Given the description of an element on the screen output the (x, y) to click on. 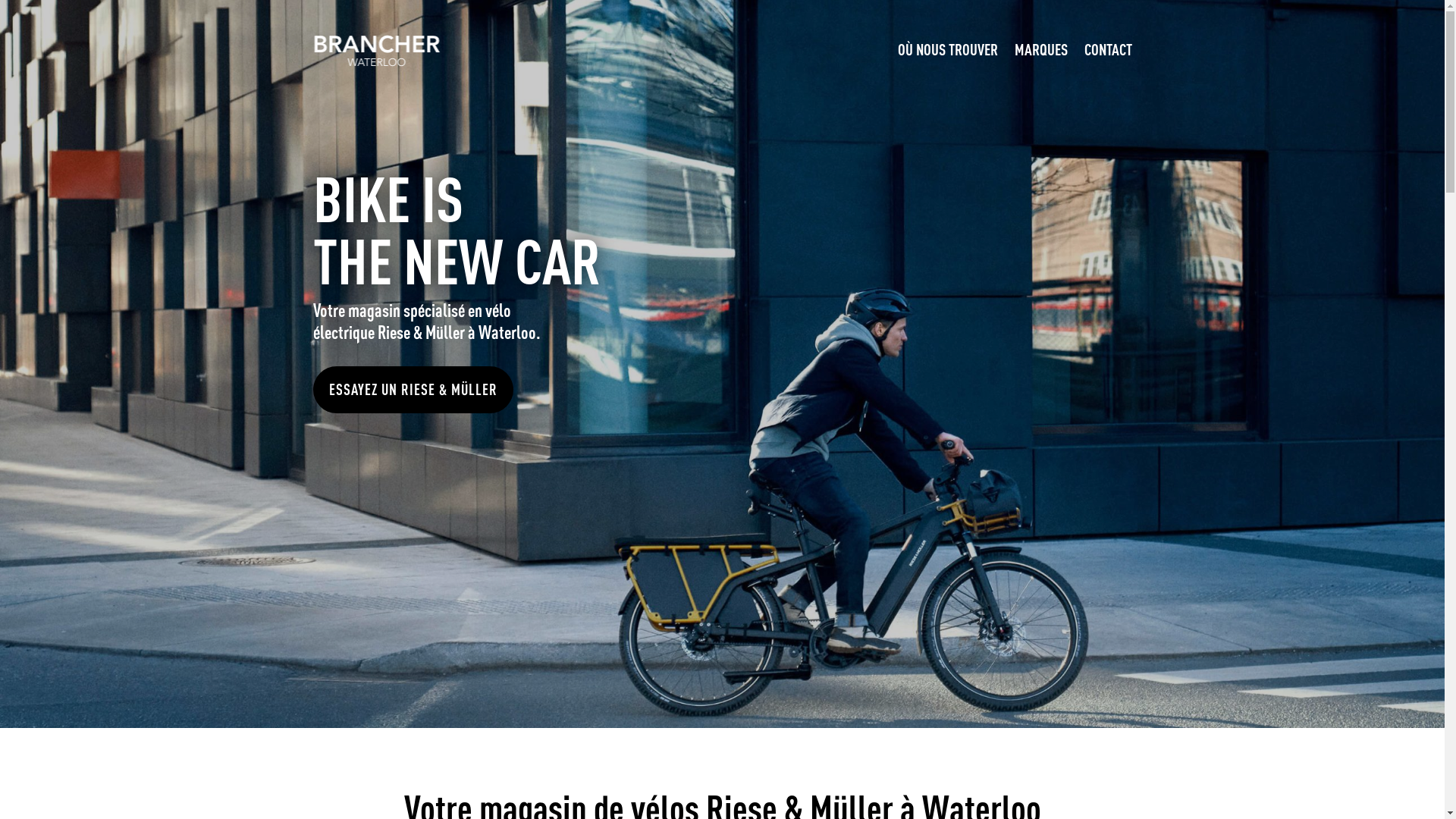
CONTACT Element type: text (1108, 49)
MARQUES Element type: text (1040, 49)
